Given the description of an element on the screen output the (x, y) to click on. 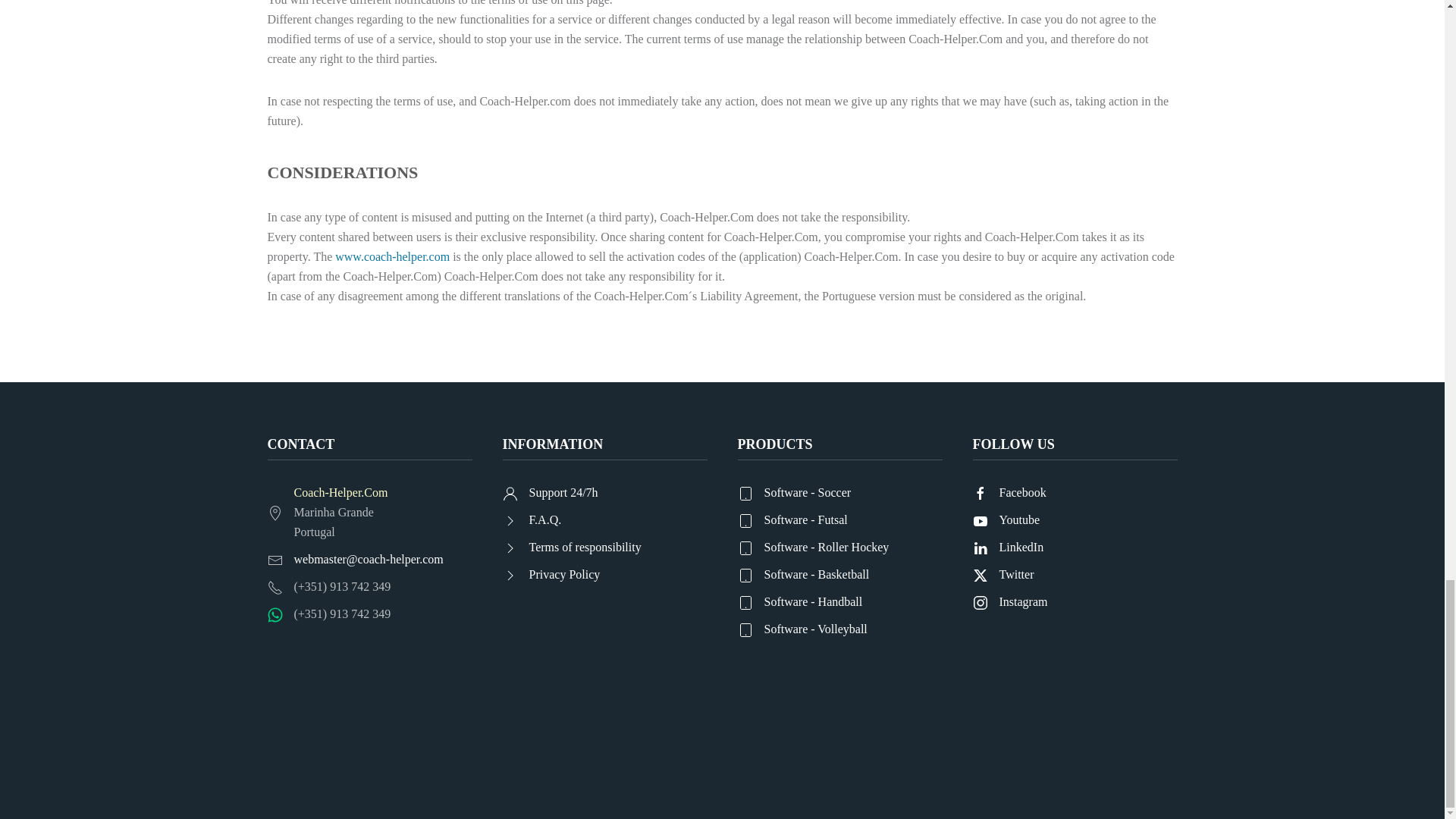
www.coach-helper.com (391, 256)
Software - Soccer (839, 492)
Software - Basketball (839, 574)
Privacy Policy (604, 574)
F.A.Q. (604, 519)
Terms of responsibility (604, 547)
Software - Futsal (839, 519)
Software - Roller Hockey (839, 547)
